Given the description of an element on the screen output the (x, y) to click on. 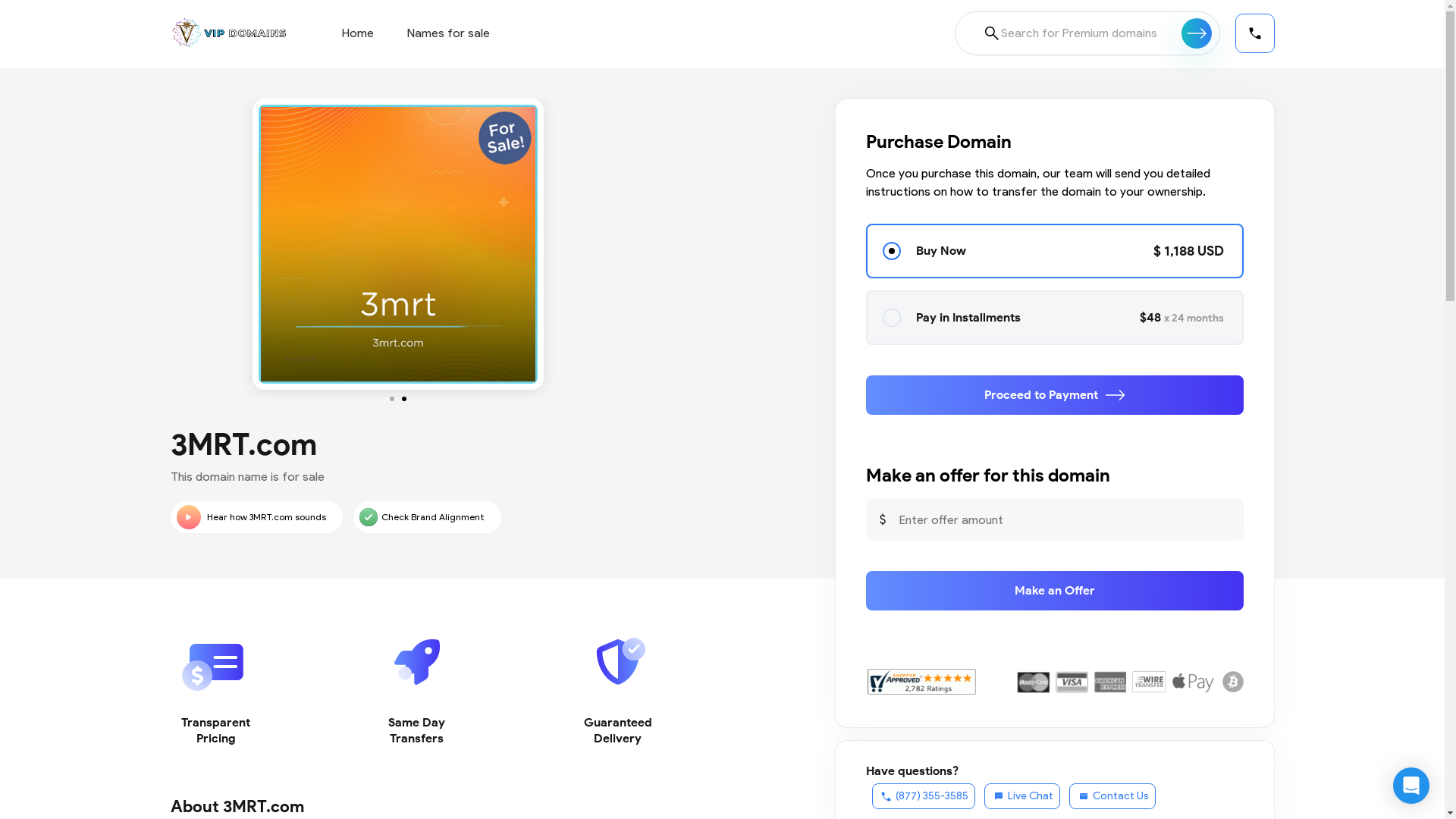
Check Brand Alignment Element type: text (427, 517)
Live Chat Element type: text (1022, 796)
Home Element type: text (357, 33)
Contact Us Element type: text (1112, 796)
(877) 355-3585 Element type: text (923, 796)
Proceed to Payment Element type: text (1054, 394)
Make an Offer Element type: text (1054, 590)
Hear how 3MRT.com sounds Element type: text (255, 517)
Buy Now
$ 1,188 USD Element type: text (1054, 250)
Names for sale Element type: text (447, 33)
